Given the description of an element on the screen output the (x, y) to click on. 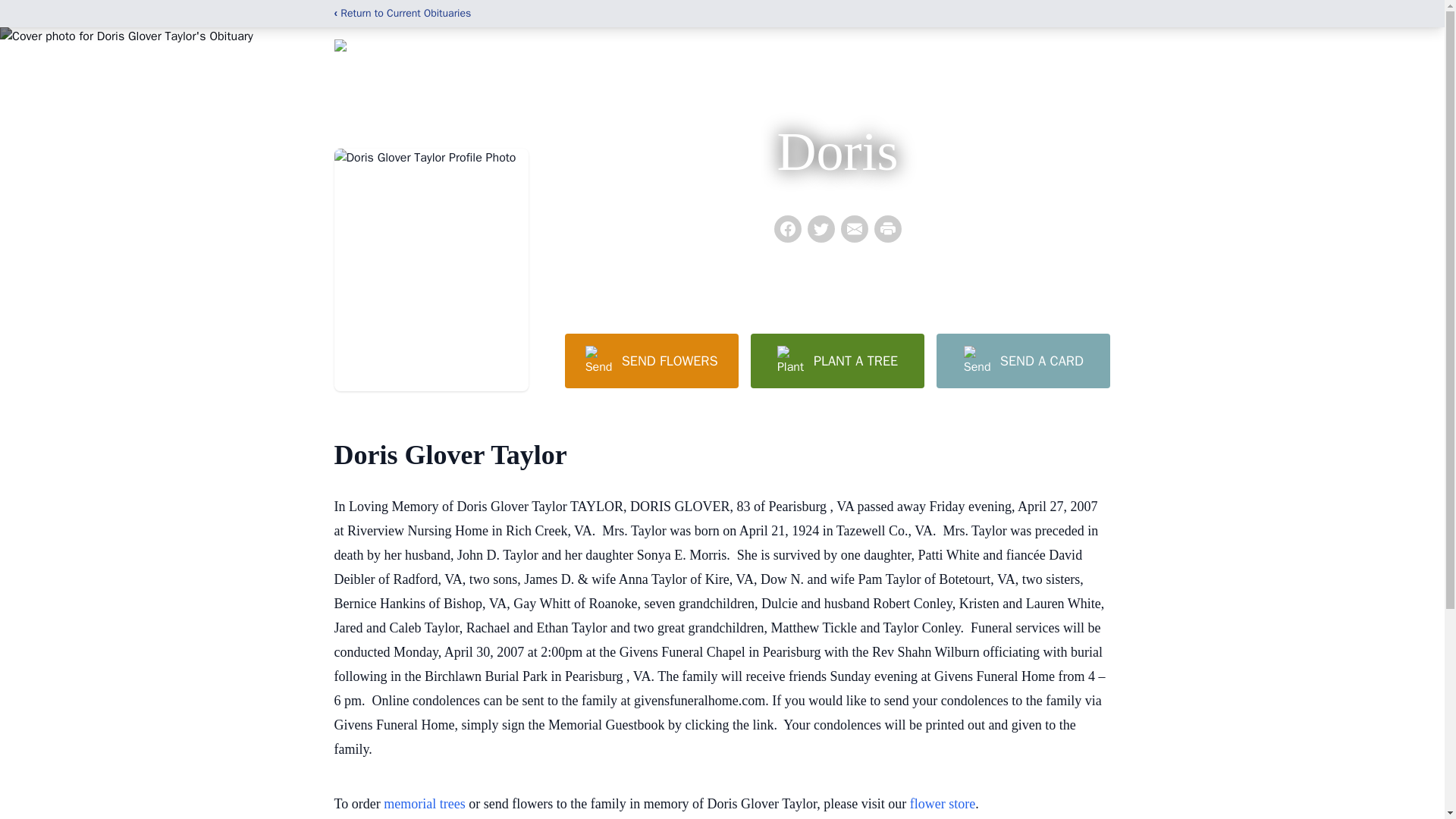
memorial trees (424, 803)
PLANT A TREE (837, 360)
flower store (942, 803)
SEND FLOWERS (651, 360)
SEND A CARD (1022, 360)
